Given the description of an element on the screen output the (x, y) to click on. 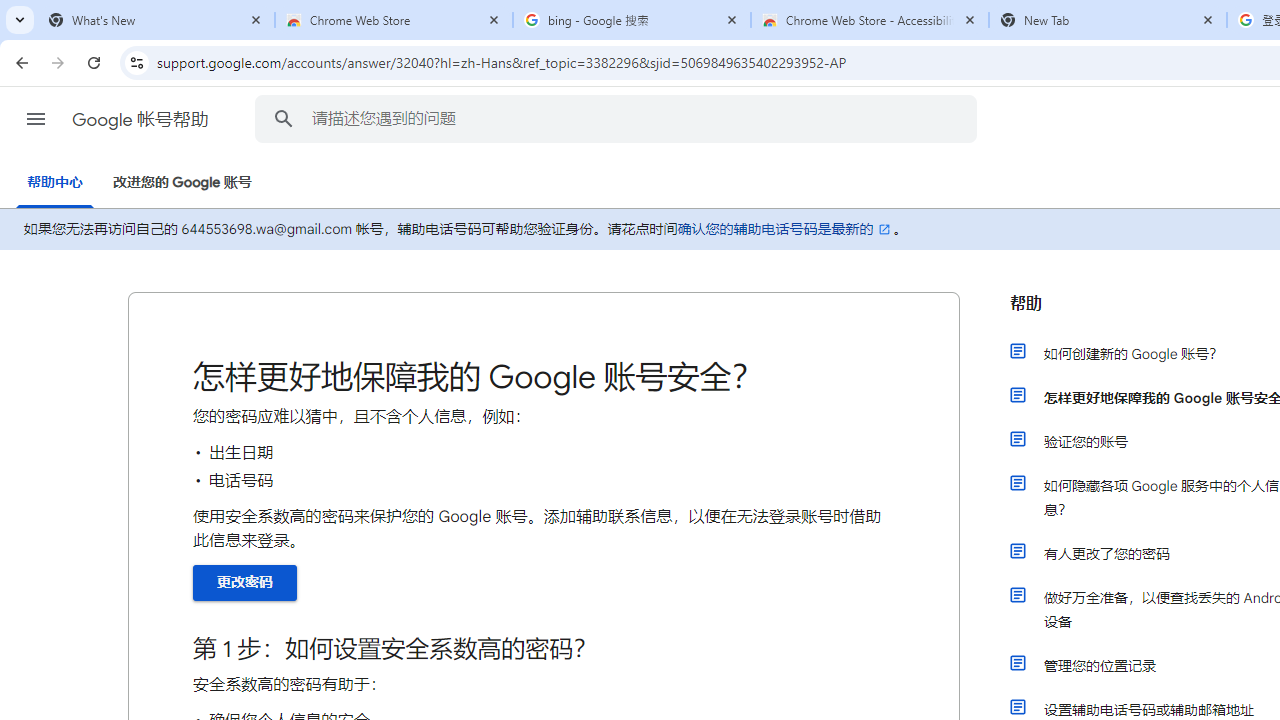
New Tab (1108, 20)
Chrome Web Store (394, 20)
What's New (156, 20)
